Given the description of an element on the screen output the (x, y) to click on. 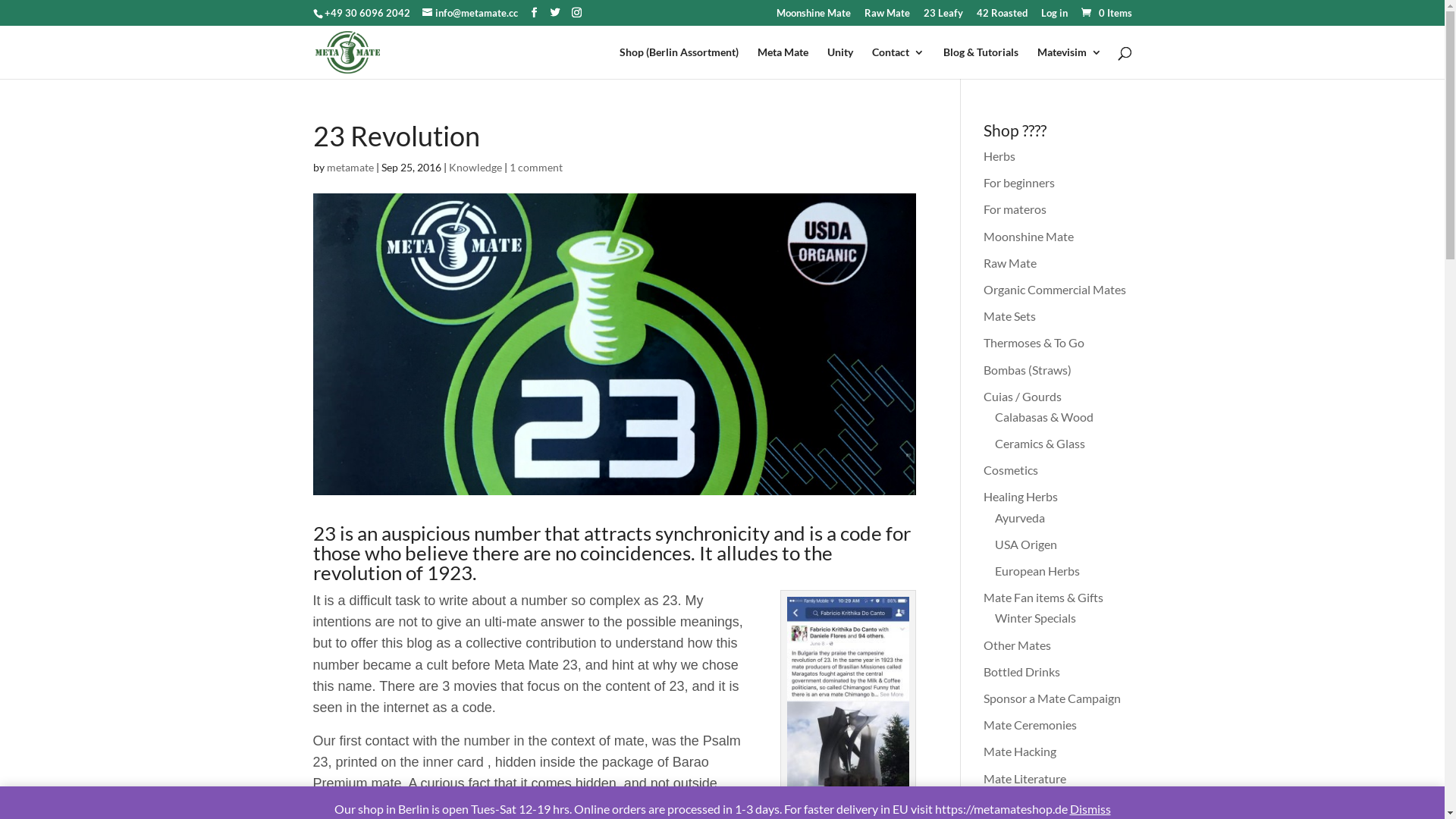
Knowledge Element type: text (475, 166)
Mate Ceremonies Element type: text (1029, 724)
Organic Commercial Mates Element type: text (1054, 289)
Mate Literature Element type: text (1024, 777)
Raw Mate Element type: text (1009, 262)
Herbs Element type: text (999, 155)
Produkte auf Deutsch Element type: text (1040, 804)
Matevisim Element type: text (1069, 62)
Meta Mate Element type: text (781, 62)
Cuias / Gourds Element type: text (1022, 396)
European Herbs Element type: text (1036, 570)
info@metamate.cc Element type: text (469, 12)
Mate Sets Element type: text (1009, 315)
For materos Element type: text (1014, 208)
Ayurveda Element type: text (1019, 517)
Blog & Tutorials Element type: text (980, 62)
For beginners Element type: text (1018, 182)
metamate Element type: text (349, 166)
Calabasas & Wood Element type: text (1043, 416)
Mate Fan items & Gifts Element type: text (1043, 596)
Healing Herbs Element type: text (1020, 496)
Cosmetics Element type: text (1010, 469)
Moonshine Mate Element type: text (813, 16)
Mate Hacking Element type: text (1019, 750)
42 Roasted Element type: text (1001, 16)
Ceramics & Glass Element type: text (1039, 443)
Moonshine Mate Element type: text (1028, 236)
Dismiss Element type: text (1089, 808)
23 Leafy Element type: text (943, 16)
Thermoses & To Go Element type: text (1033, 342)
Contact Element type: text (898, 62)
USA Origen Element type: text (1025, 543)
Sponsor a Mate Campaign Element type: text (1051, 697)
Bombas (Straws) Element type: text (1027, 369)
Winter Specials Element type: text (1035, 617)
Log in Element type: text (1053, 16)
Other Mates Element type: text (1017, 644)
Unity Element type: text (839, 62)
0 Items Element type: text (1104, 12)
Raw Mate Element type: text (887, 16)
1 comment Element type: text (535, 166)
Bottled Drinks Element type: text (1021, 671)
Shop (Berlin Assortment) Element type: text (677, 62)
